Given the description of an element on the screen output the (x, y) to click on. 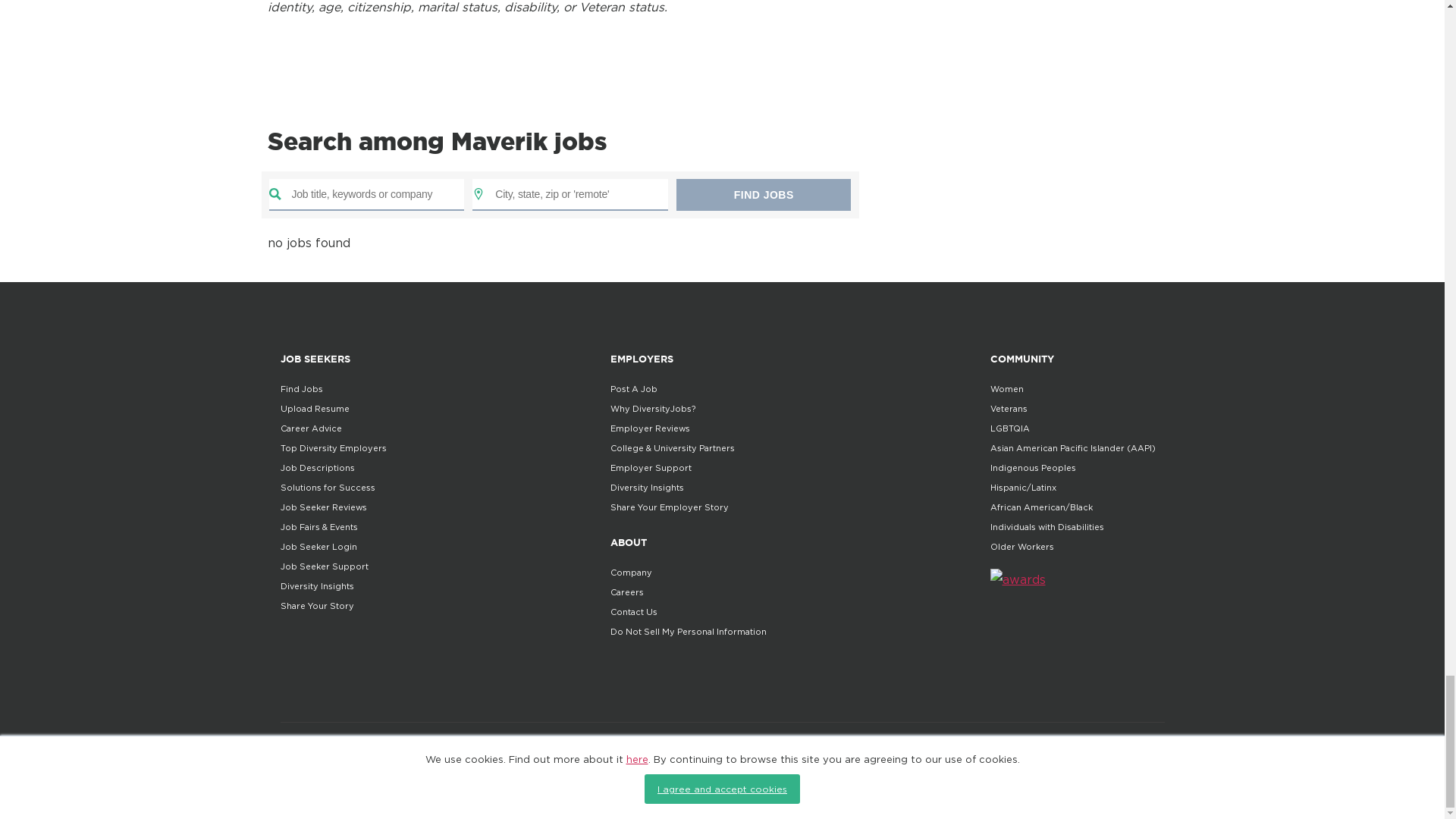
Search (763, 194)
Find Jobs (763, 194)
